Given the description of an element on the screen output the (x, y) to click on. 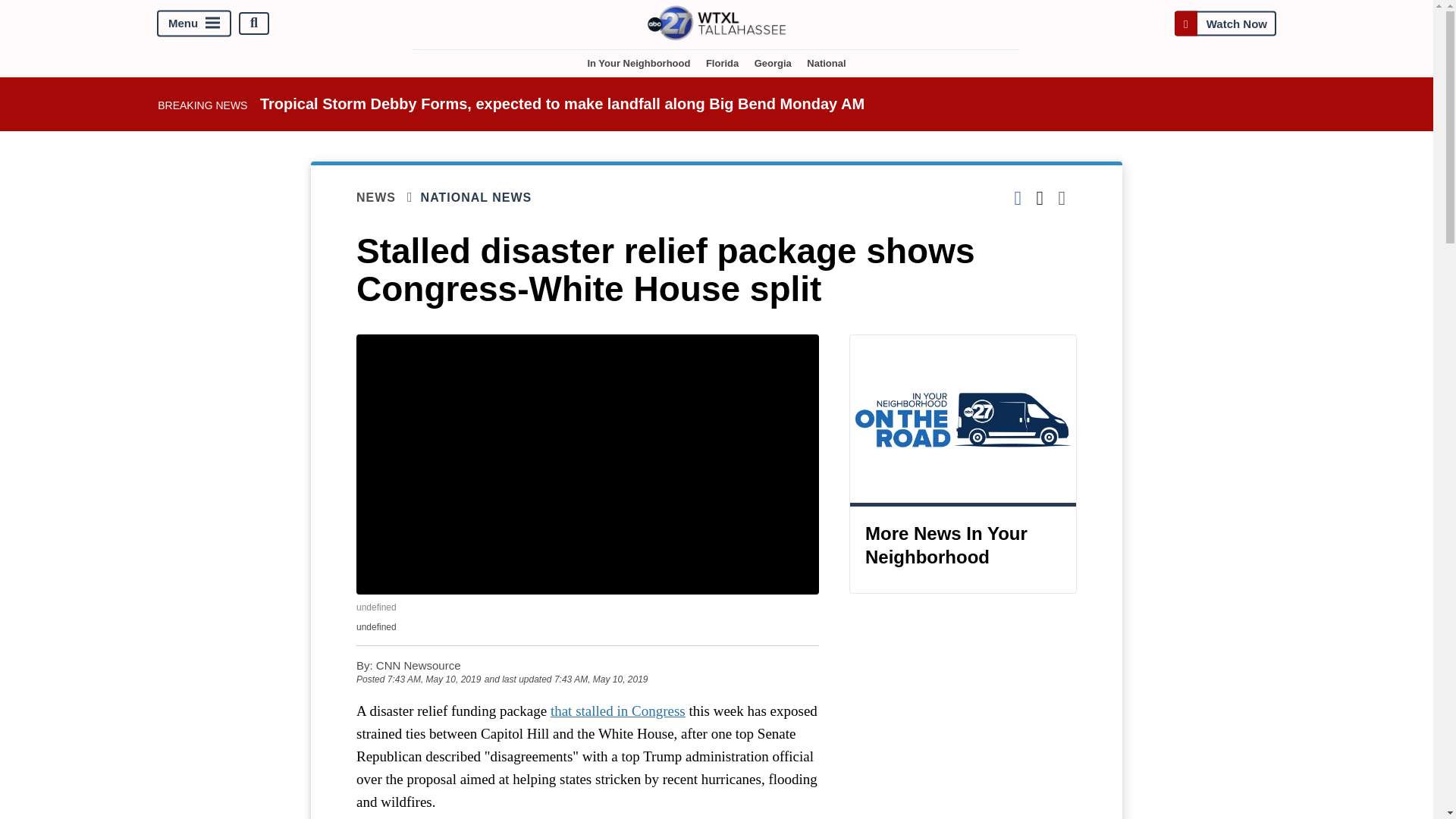
Menu (194, 22)
Watch Now (1224, 22)
